Given the description of an element on the screen output the (x, y) to click on. 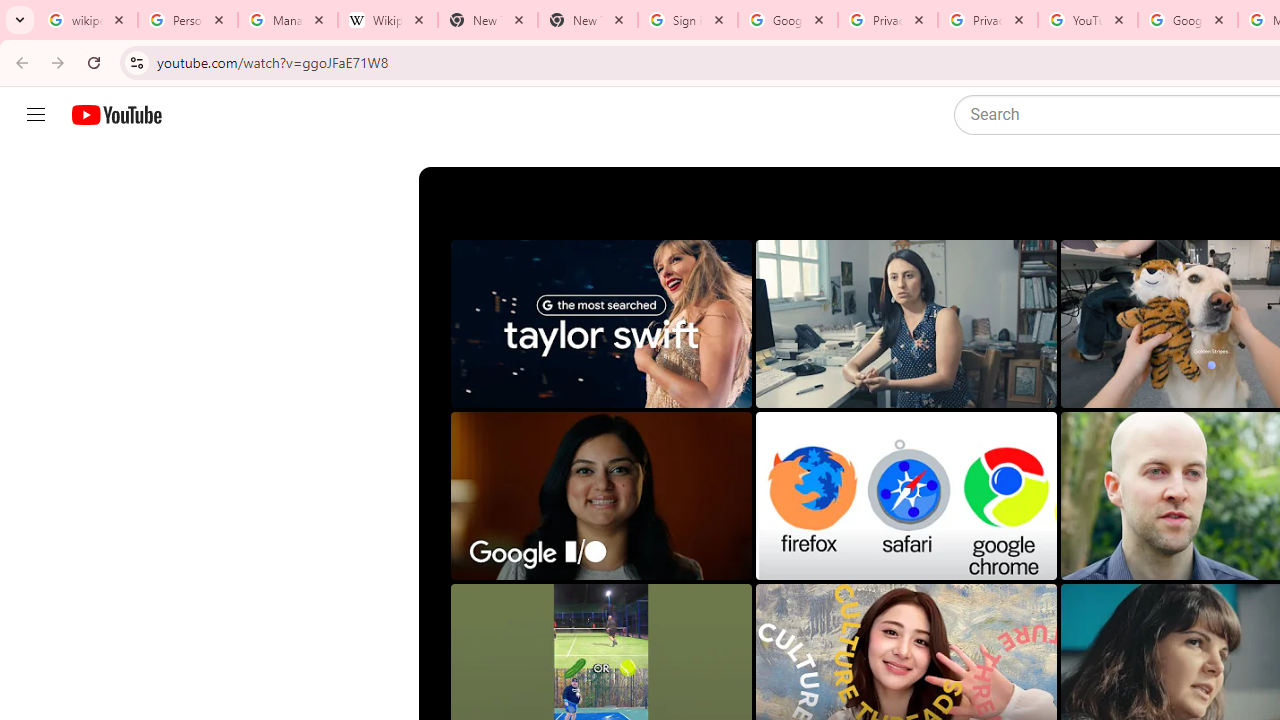
Manage your Location History - Google Search Help (287, 20)
Sign in - Google Accounts (687, 20)
